Given the description of an element on the screen output the (x, y) to click on. 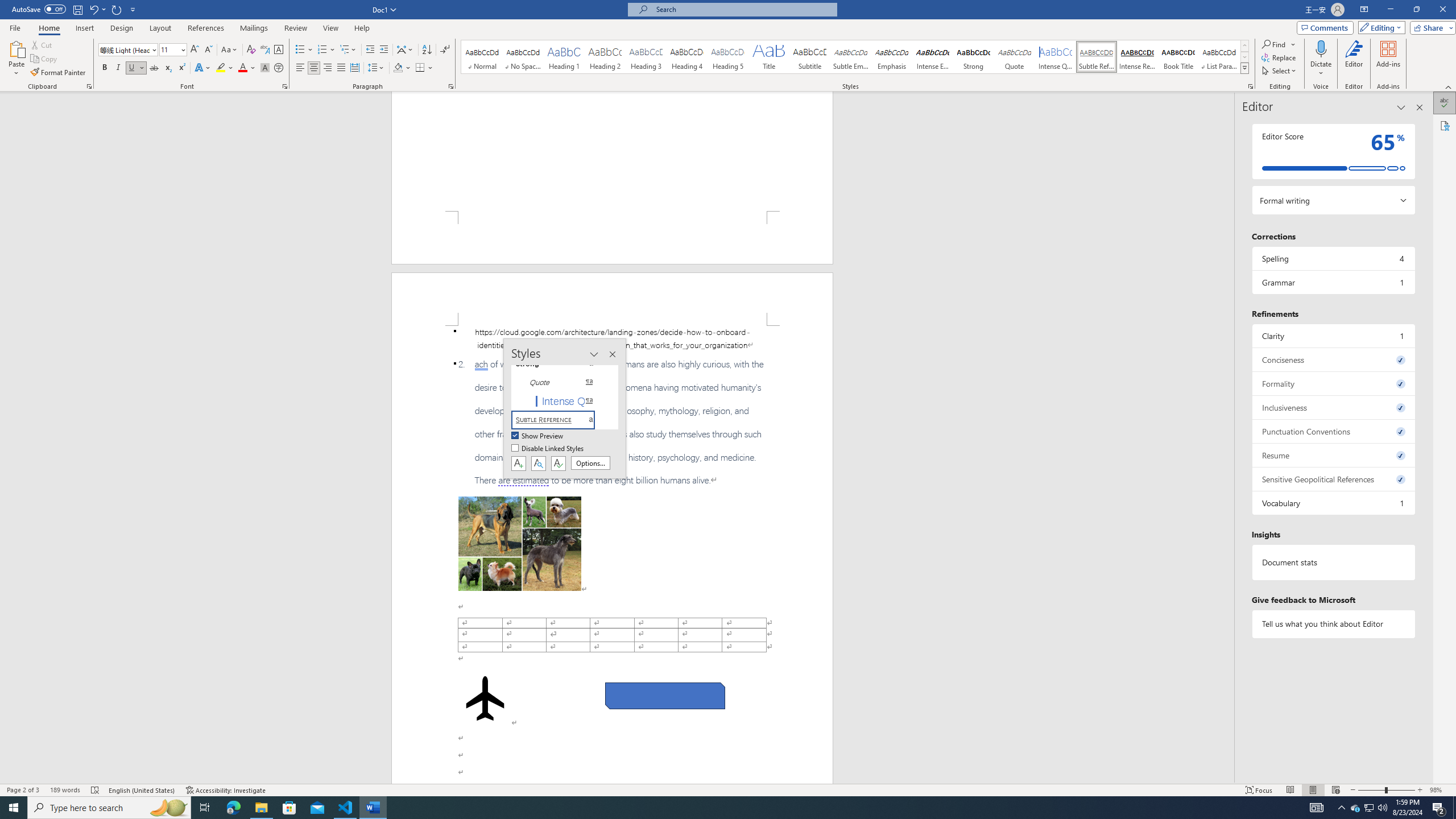
References (205, 28)
Shading RGB(0, 0, 0) (397, 67)
Office Clipboard... (88, 85)
Class: NetUIButton (558, 463)
Emphasis (891, 56)
Accessibility Checker Accessibility: Investigate (226, 790)
Styles... (1250, 85)
Print Layout (1312, 790)
